Given the description of an element on the screen output the (x, y) to click on. 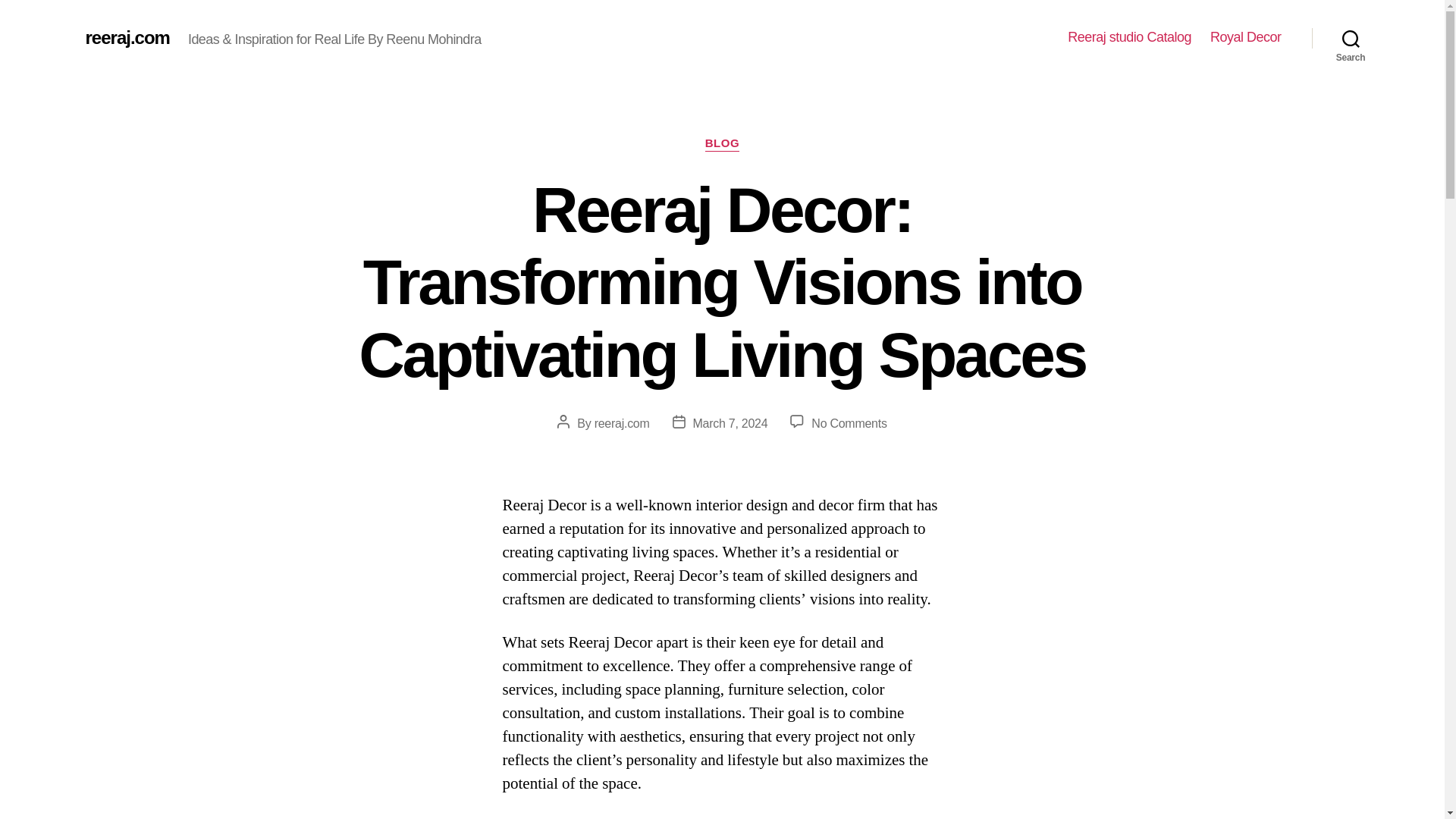
No Comments (848, 422)
Royal Decor (1245, 37)
reeraj.com (621, 422)
Reeraj studio Catalog (1129, 37)
reeraj.com (126, 37)
BLOG (721, 143)
March 7, 2024 (730, 422)
Search (1350, 37)
